Given the description of an element on the screen output the (x, y) to click on. 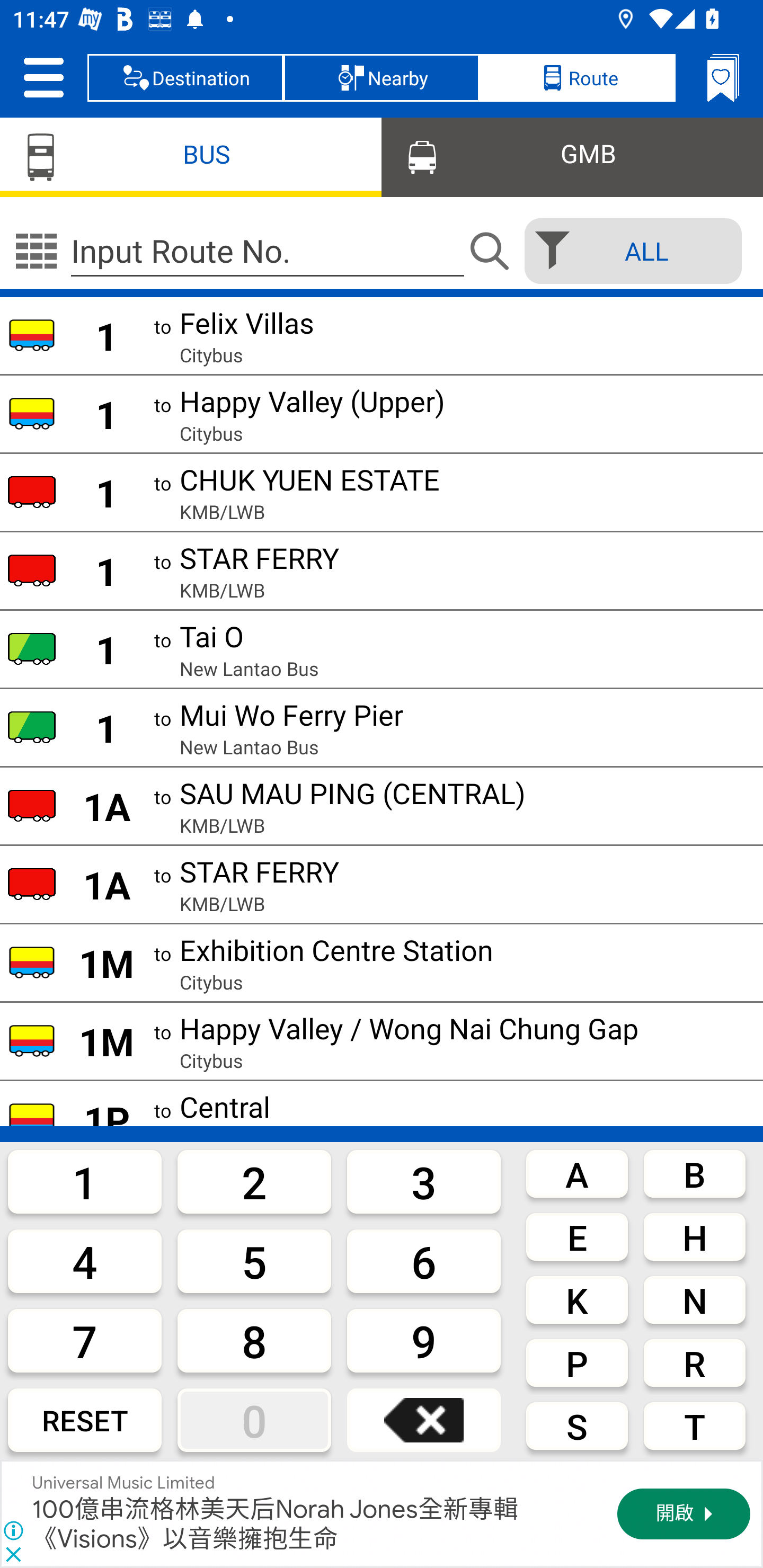
Destination (185, 77)
Nearby (381, 77)
Route, selected (577, 77)
Bookmarks (723, 77)
Setting (43, 77)
BUS, selected (190, 155)
GMB (572, 155)
selected ALL (627, 250)
no (36, 250)
1 (84, 1181)
2 (254, 1181)
3 (423, 1181)
A (576, 1173)
B (694, 1173)
E (576, 1236)
H (694, 1236)
4 (84, 1261)
5 (254, 1261)
6 (423, 1261)
K (576, 1299)
N (694, 1299)
7 (84, 1340)
8 (254, 1340)
9 (423, 1340)
P (576, 1362)
R (694, 1362)
RESET (84, 1419)
0 (254, 1419)
S (576, 1425)
T (694, 1425)
Universal Music Limited (123, 1483)
開啟 (683, 1513)
